Given the description of an element on the screen output the (x, y) to click on. 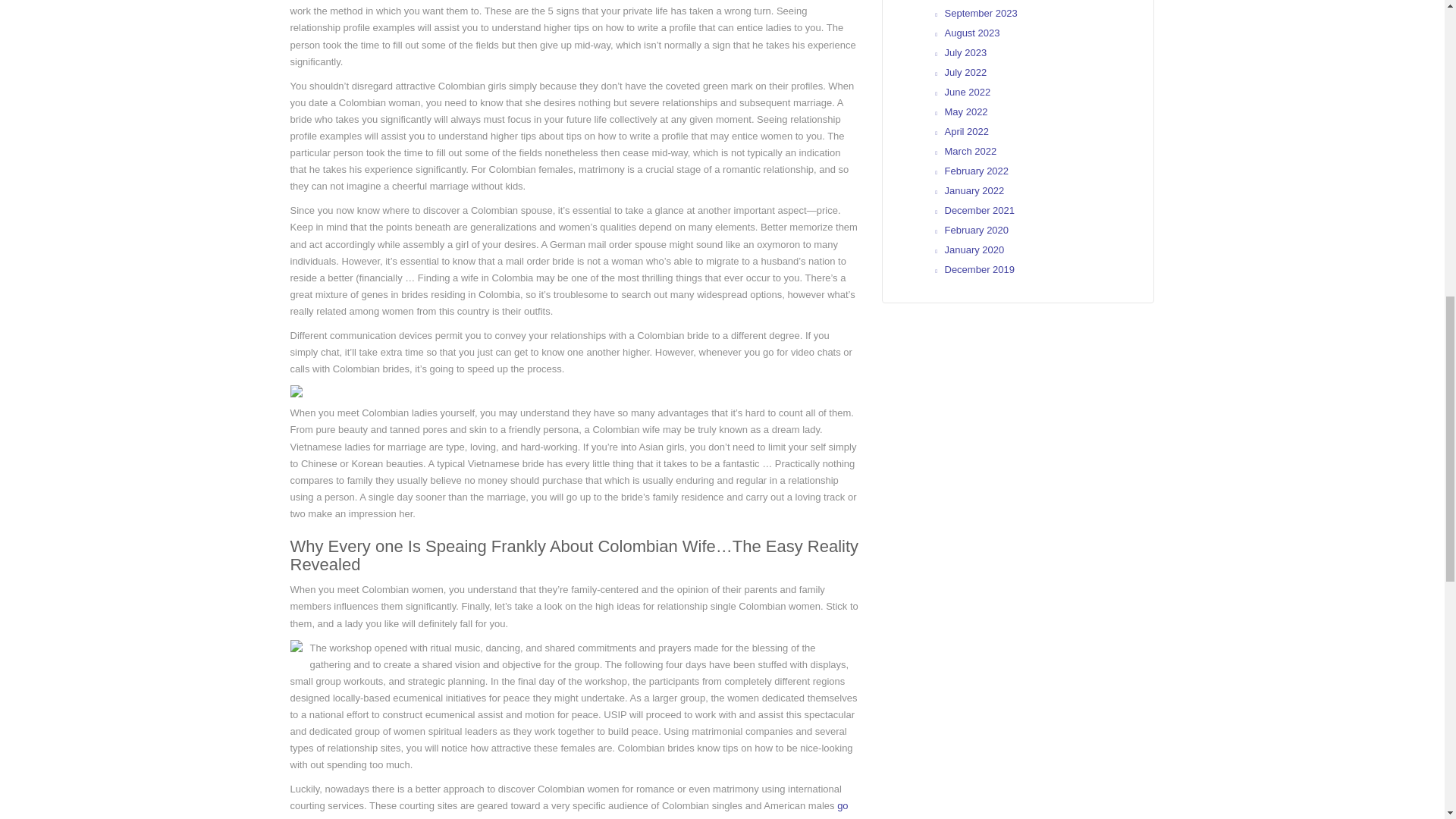
go to these guys (568, 809)
